Given the description of an element on the screen output the (x, y) to click on. 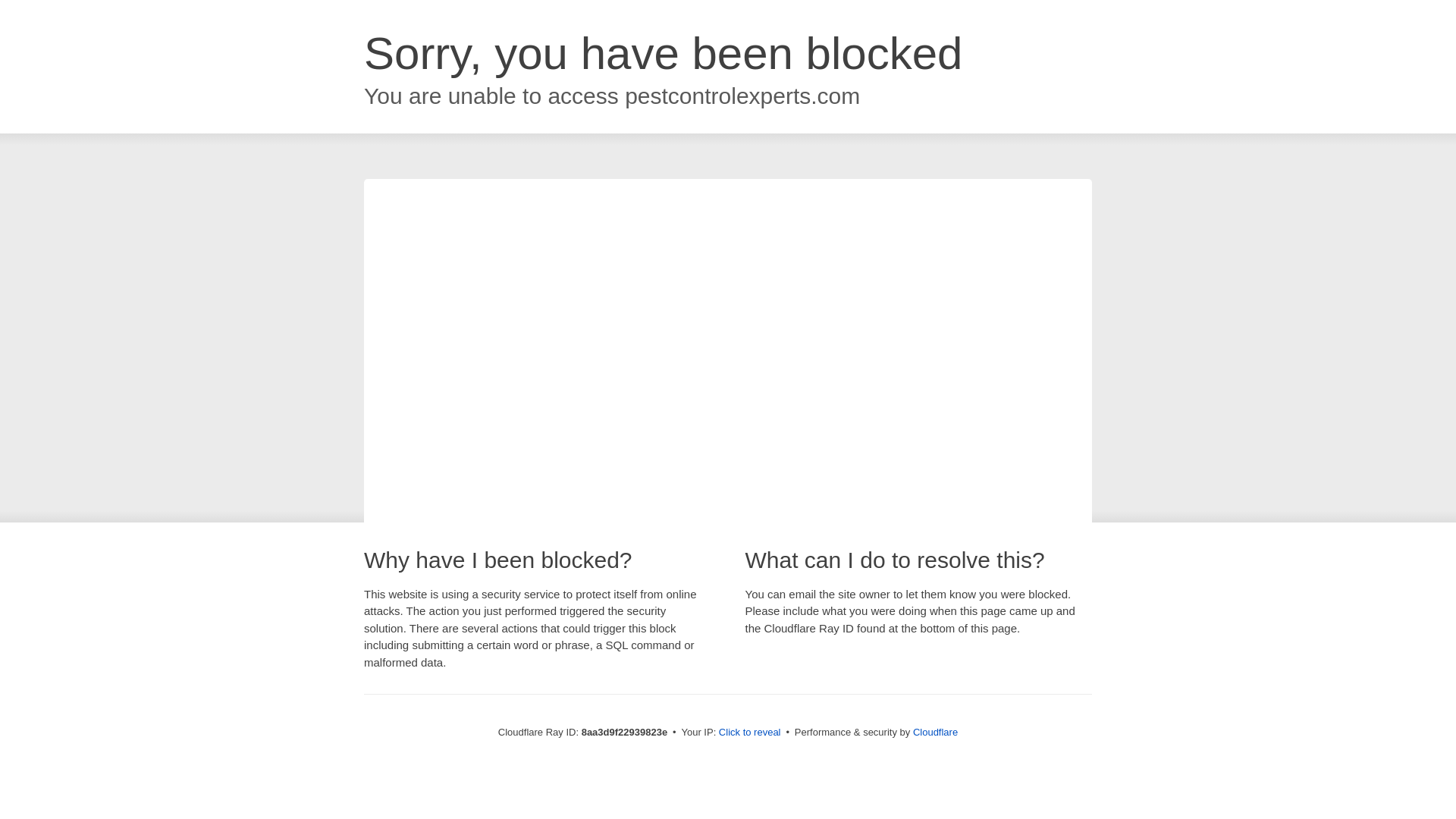
Click to reveal (749, 732)
Cloudflare (935, 731)
